Given the description of an element on the screen output the (x, y) to click on. 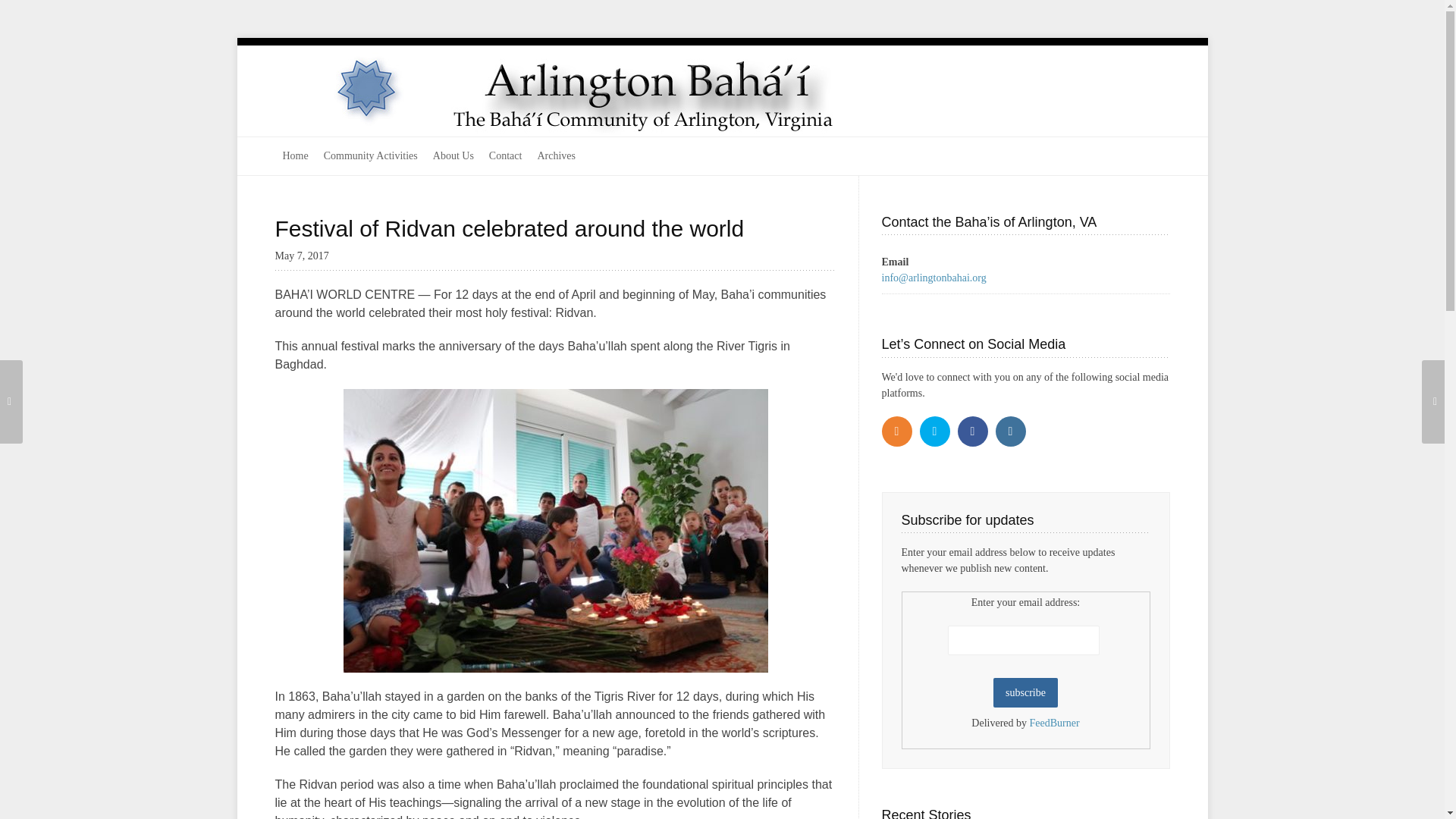
Archives (556, 156)
Subscribe (1025, 692)
About Us (453, 156)
FeedBurner (1054, 722)
Contact (505, 156)
Home (295, 156)
The Baha'i Community of Arlington, Virginia (639, 90)
Community Activities (370, 156)
Subscribe (1025, 692)
